Given the description of an element on the screen output the (x, y) to click on. 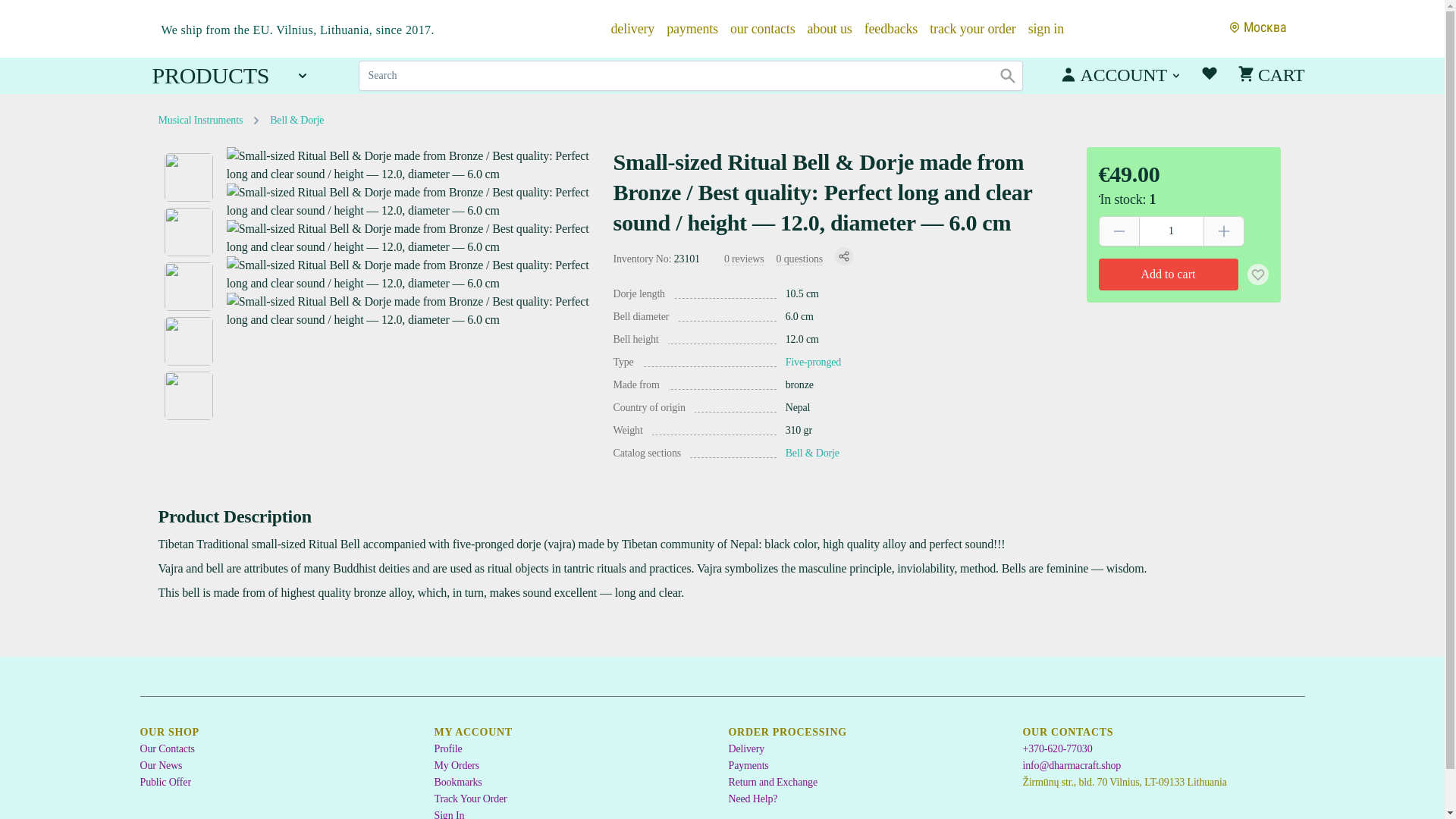
1 (1171, 231)
about us (828, 28)
feedbacks (891, 28)
payments (691, 28)
our contacts (762, 28)
delivery (633, 28)
PRODUCTS (230, 75)
track your order (972, 28)
sign in (1045, 28)
